Given the description of an element on the screen output the (x, y) to click on. 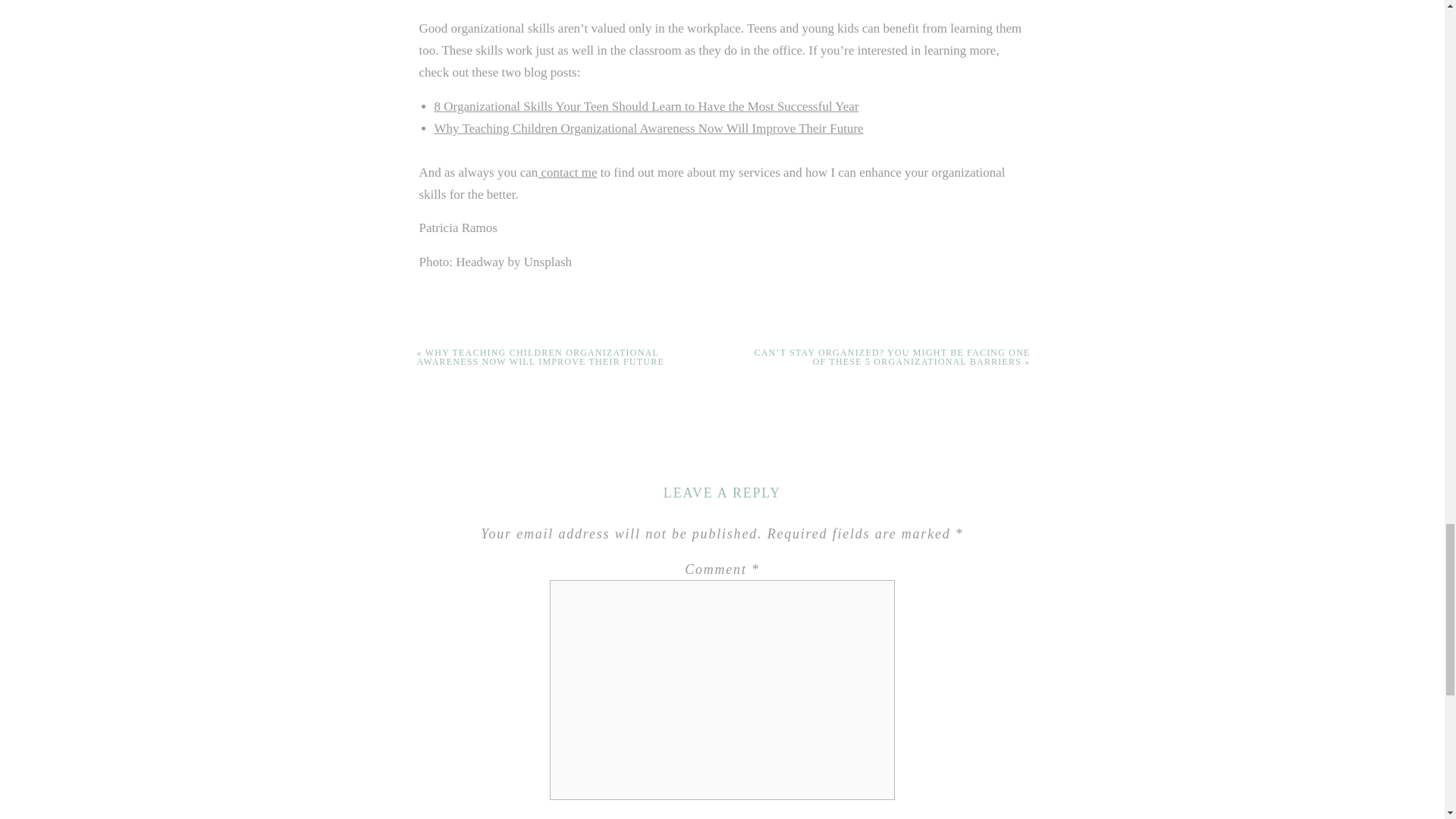
contact me (566, 172)
